Given the description of an element on the screen output the (x, y) to click on. 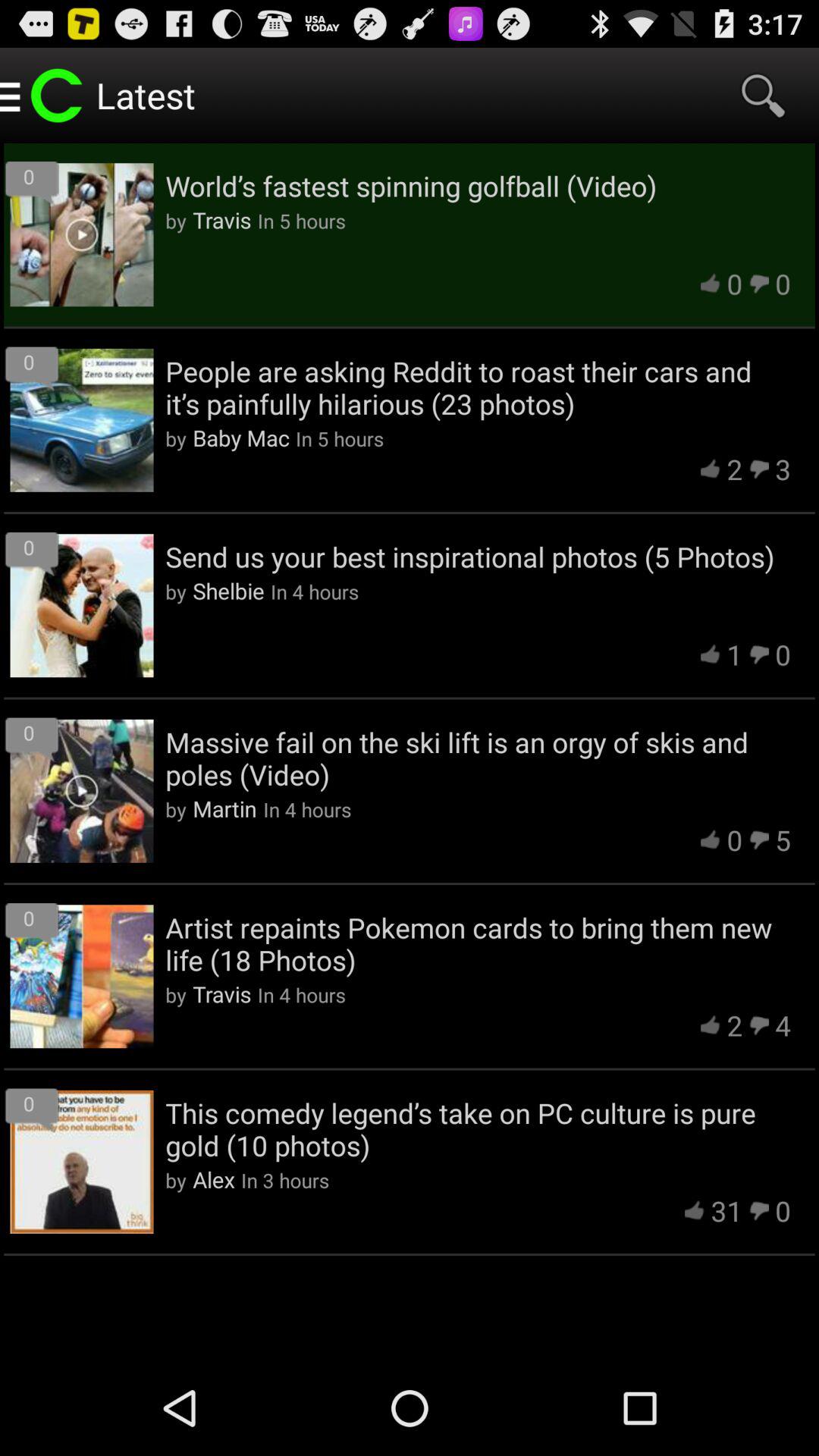
swipe to the artist repaints pokemon (478, 943)
